Given the description of an element on the screen output the (x, y) to click on. 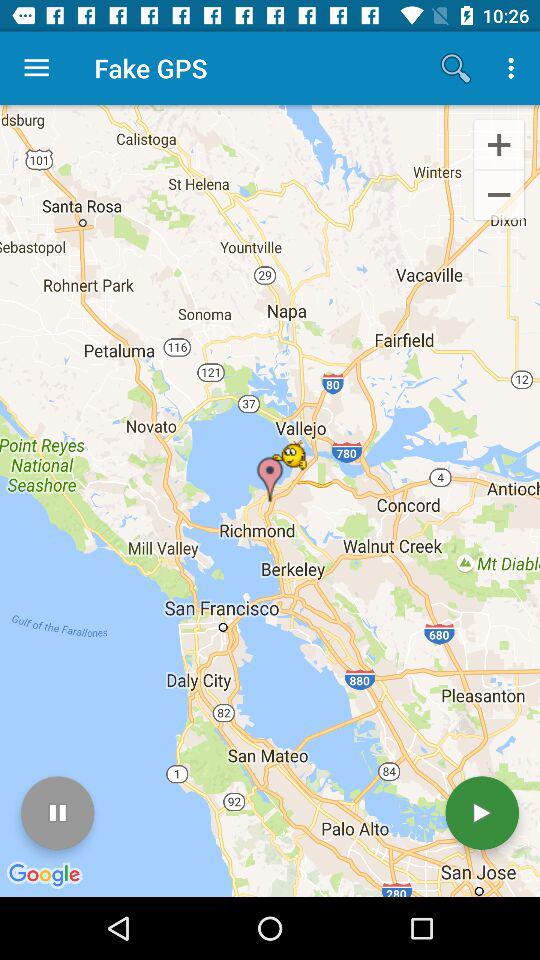
press icon to the left of the fake gps (36, 68)
